Given the description of an element on the screen output the (x, y) to click on. 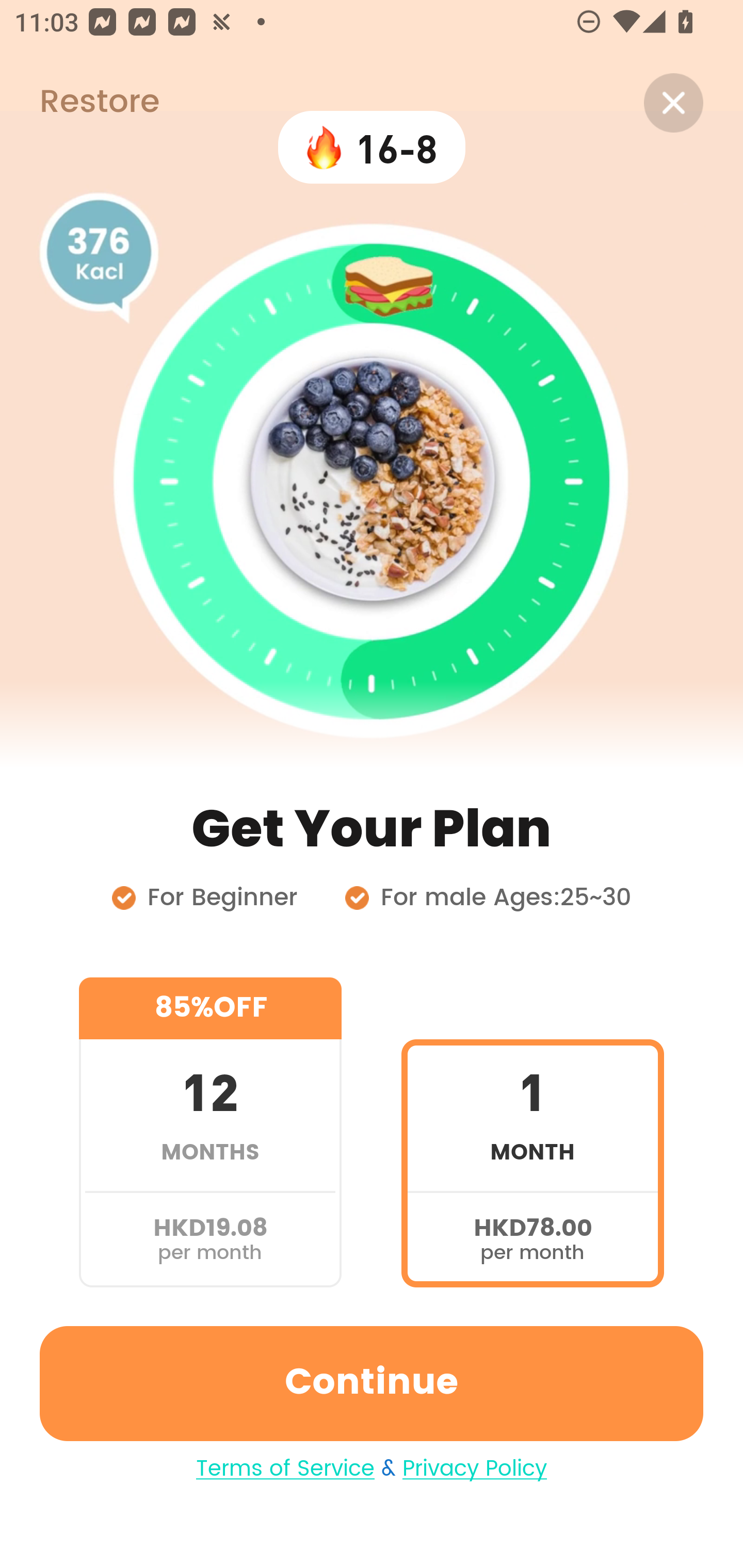
Restore (79, 102)
85%OFF 12 MONTHS per month HKD19.08 (209, 1131)
1 MONTH per month HKD78.00 (532, 1131)
Continue (371, 1383)
